Given the description of an element on the screen output the (x, y) to click on. 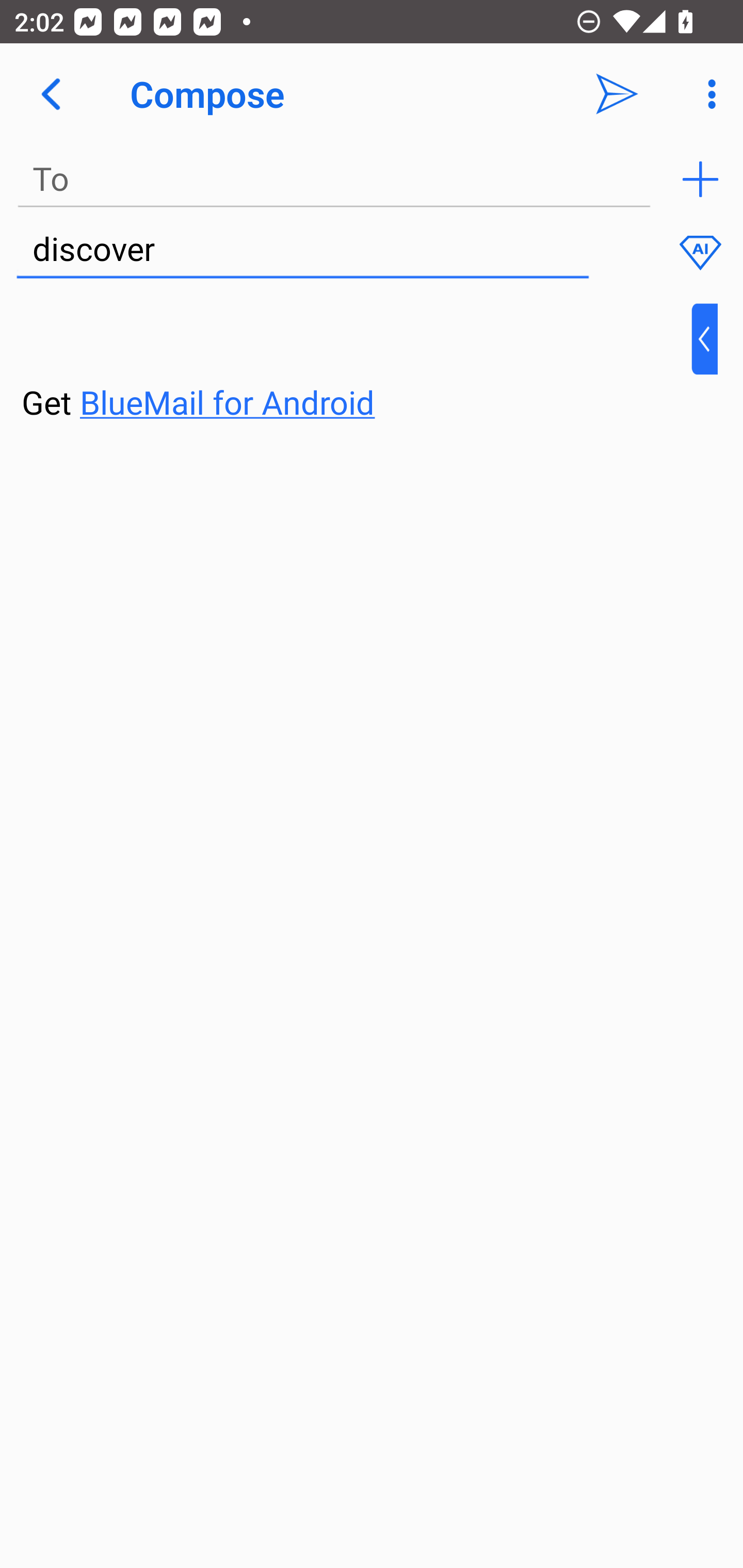
Navigate up (50, 93)
Send (616, 93)
More Options (706, 93)
To (334, 179)
Add recipient (To) (699, 179)
discover (302, 249)


⁣Get BlueMail for Android ​ (355, 363)
